Given the description of an element on the screen output the (x, y) to click on. 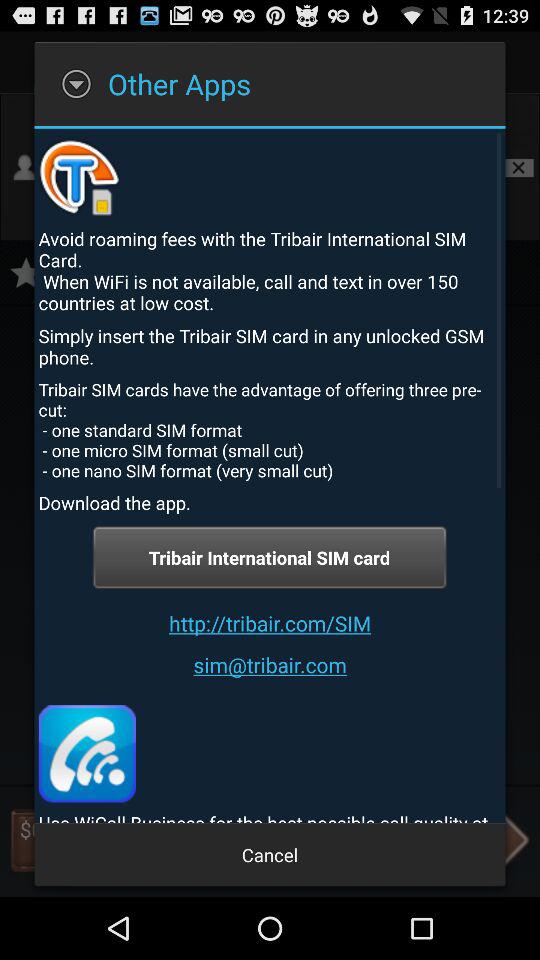
jump until the http tribair com icon (269, 622)
